Given the description of an element on the screen output the (x, y) to click on. 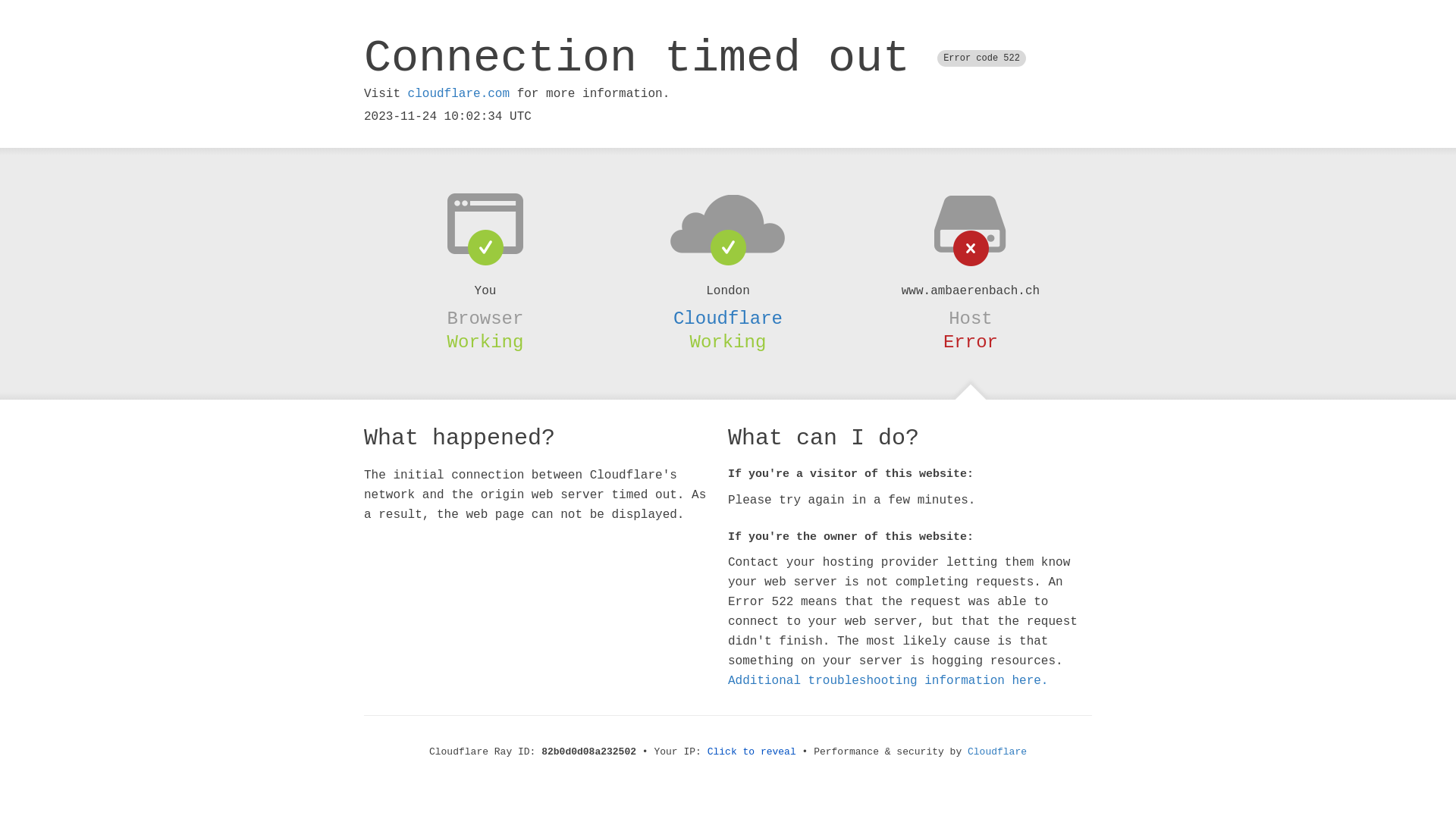
Click to reveal Element type: text (751, 751)
Additional troubleshooting information here. Element type: text (888, 680)
cloudflare.com Element type: text (458, 93)
Cloudflare Element type: text (727, 318)
Cloudflare Element type: text (996, 751)
